Given the description of an element on the screen output the (x, y) to click on. 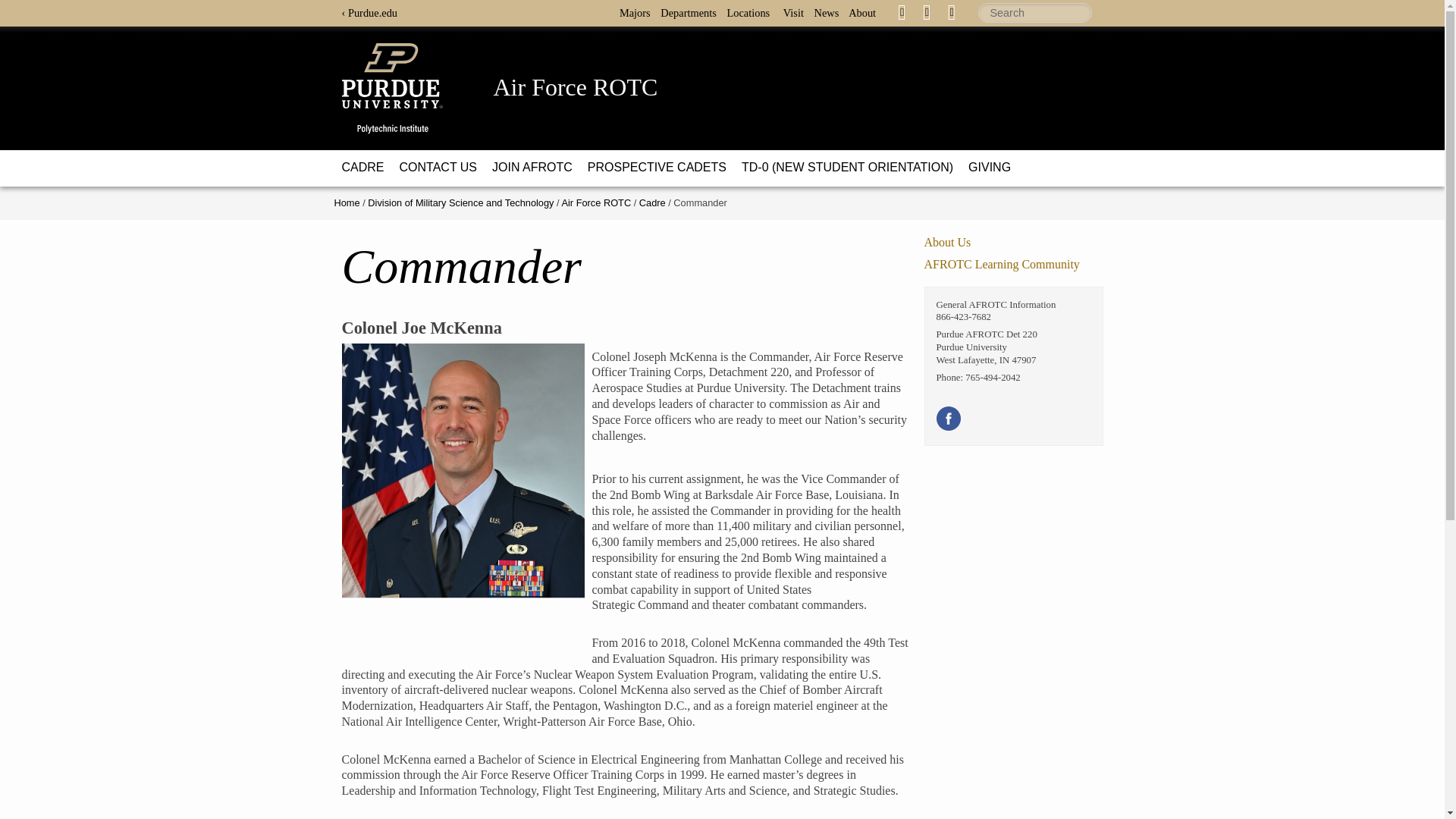
Link to instagram (951, 10)
Link to facebook (901, 10)
Purdue Polytechnic Institute (405, 88)
About (865, 12)
instagram link (951, 12)
JOIN AFROTC (532, 167)
Search (1035, 12)
Air Force ROTC (575, 86)
Search (1035, 12)
CADRE (362, 167)
